Given the description of an element on the screen output the (x, y) to click on. 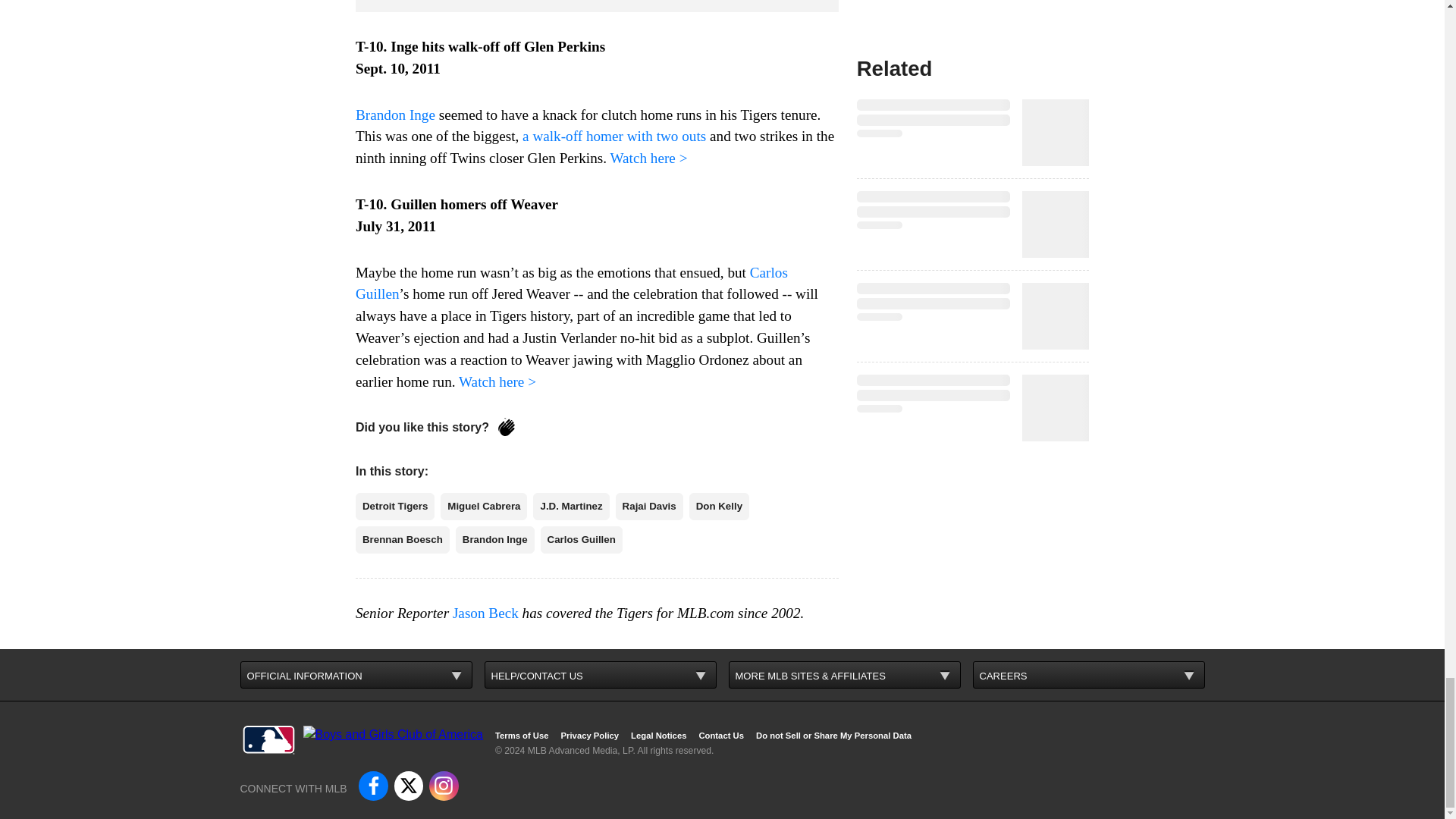
Follow on instagram (443, 785)
CAREERS (1088, 674)
Follow on facebook (372, 785)
OFFICIAL INFORMATION (355, 674)
Follow on twitter (408, 785)
